Given the description of an element on the screen output the (x, y) to click on. 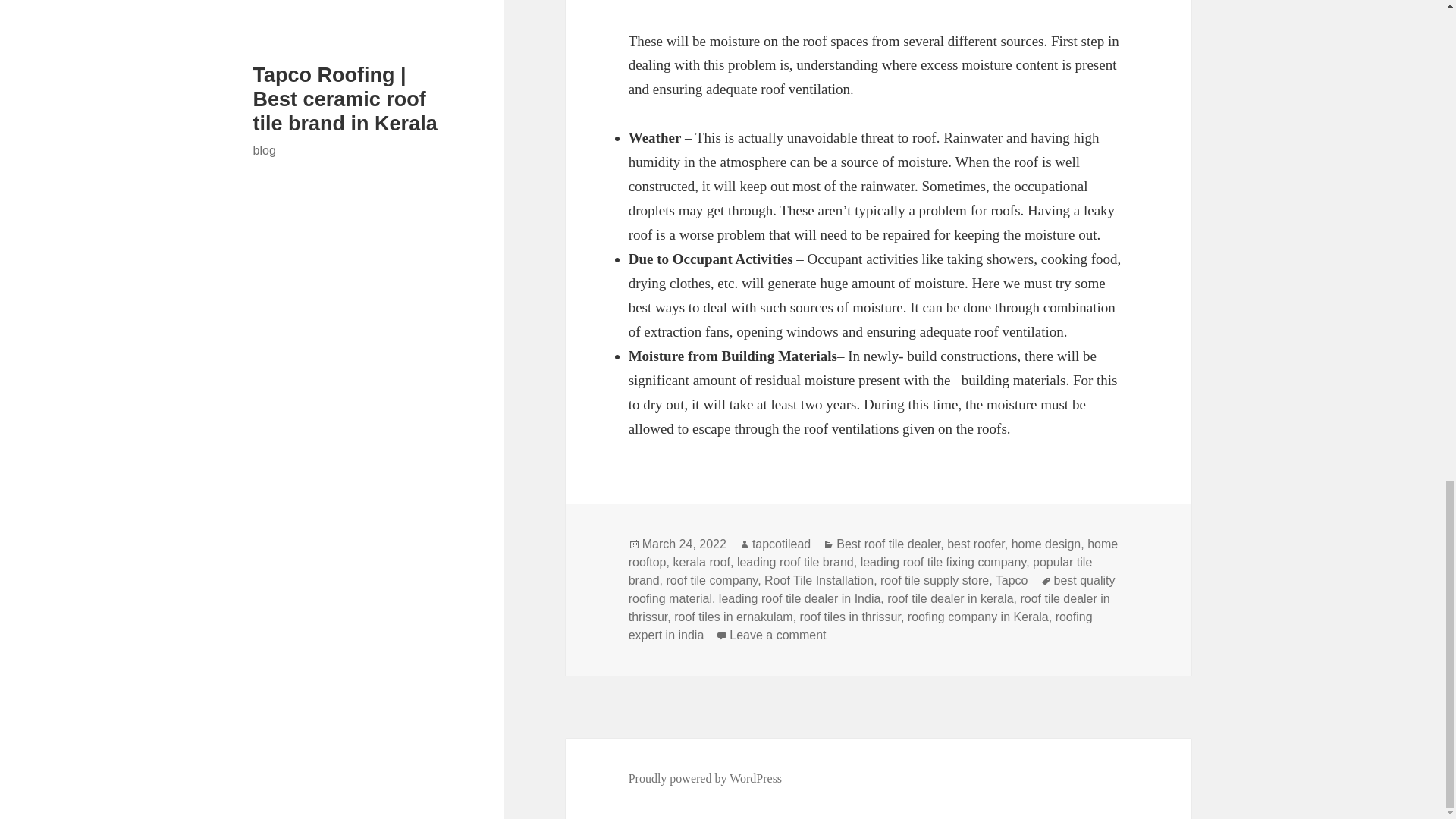
March 24, 2022 (684, 544)
roof tiles in thrissur (850, 617)
best quality roofing material (871, 590)
Roof Tile Installation (818, 581)
roof tiles in ernakulam (733, 617)
kerala roof (701, 562)
best roofer (975, 544)
roof tile dealer in kerala (949, 599)
leading roof tile brand (794, 562)
leading roof tile dealer in India (799, 599)
